Given the description of an element on the screen output the (x, y) to click on. 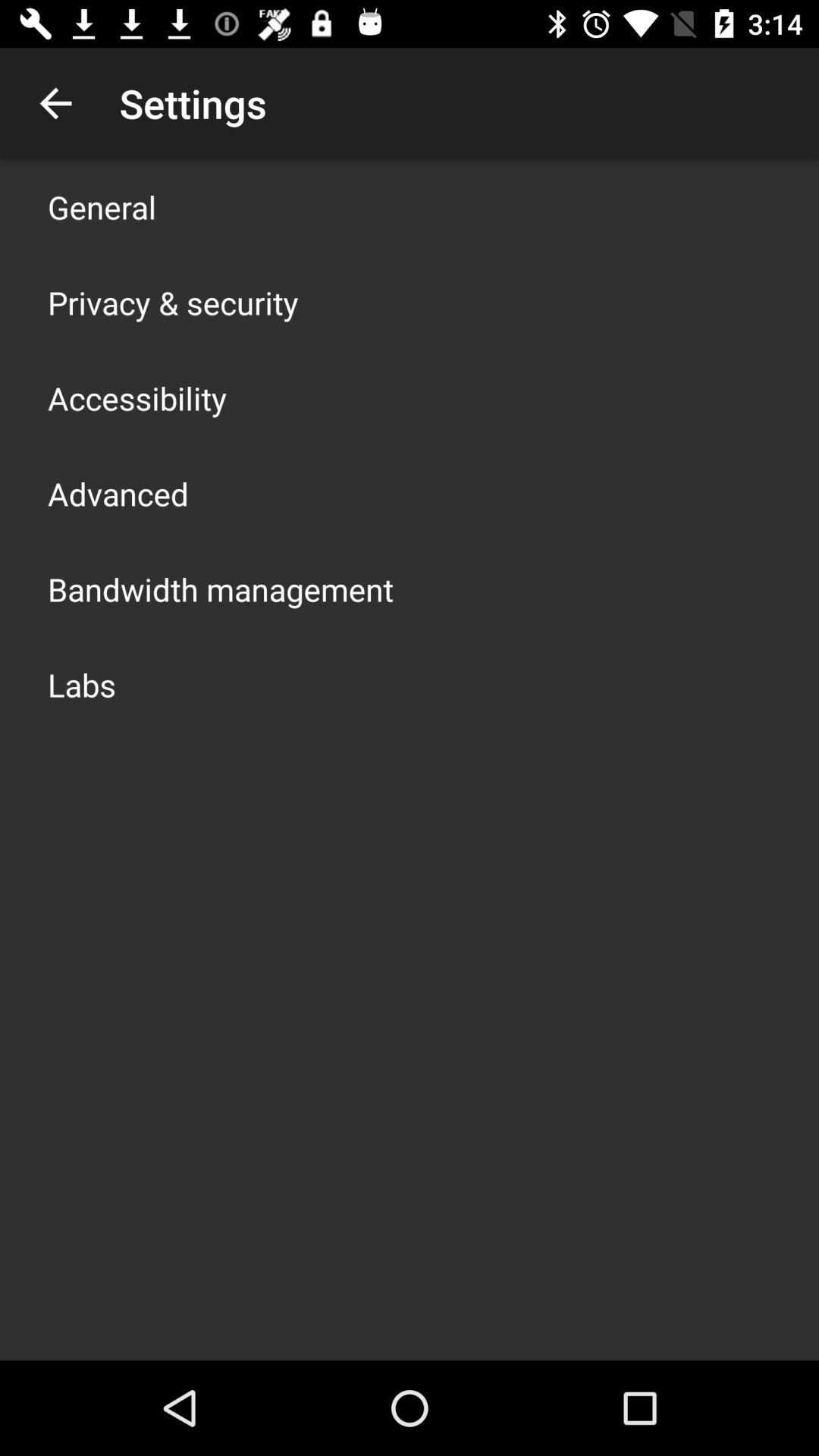
launch item next to the settings icon (55, 103)
